Given the description of an element on the screen output the (x, y) to click on. 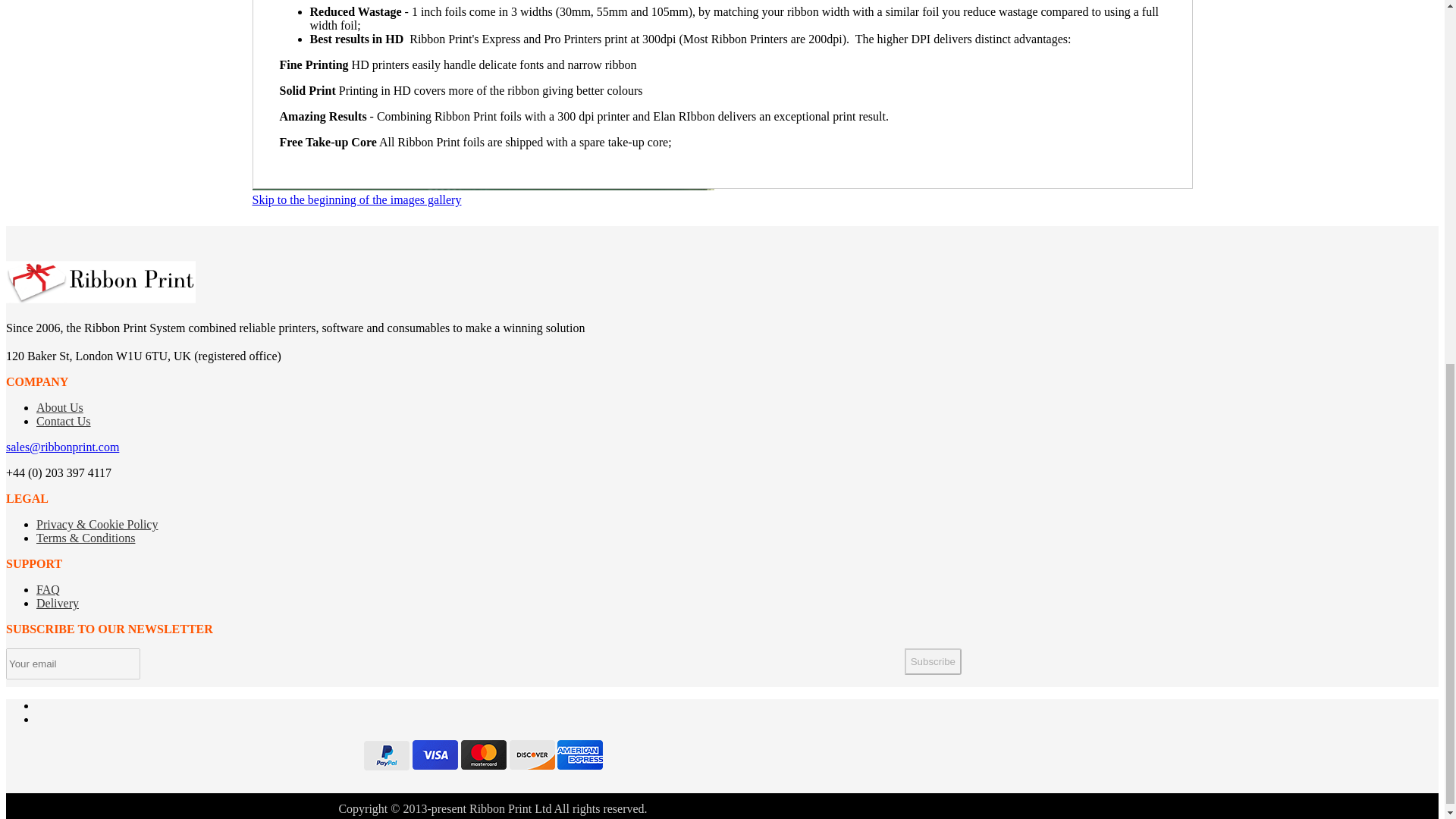
Subscribe (932, 661)
Ordering FAQs (57, 603)
Ribbon Print - About Us (59, 407)
Privacy and Cookie Policy (96, 523)
